Given the description of an element on the screen output the (x, y) to click on. 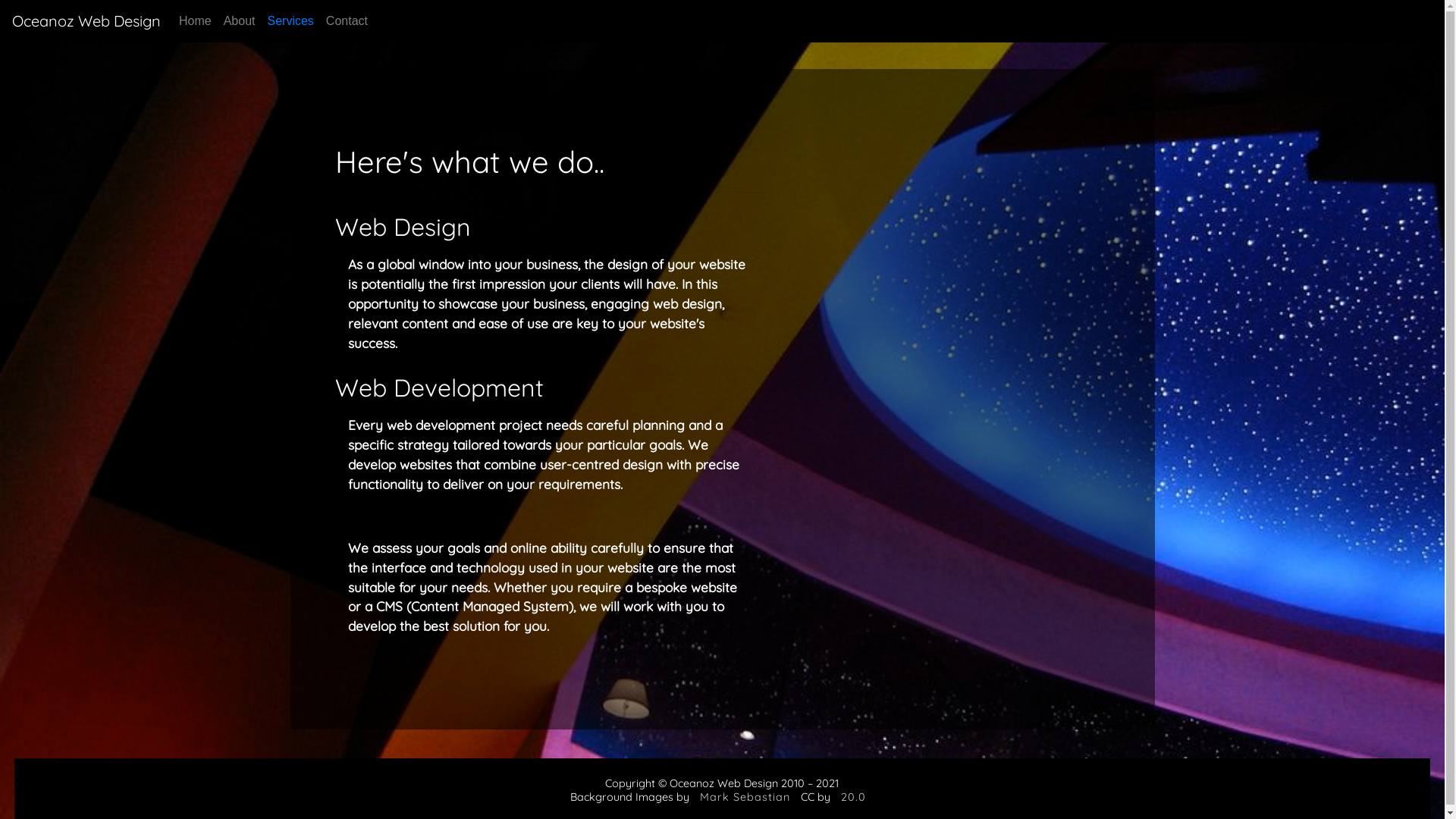
Contact Element type: text (346, 21)
Services
(current) Element type: text (289, 21)
20.0 Element type: text (853, 796)
About Element type: text (239, 21)
Oceanoz Web Design Element type: text (86, 21)
Mark Sebastian Element type: text (744, 796)
Home Element type: text (194, 21)
